Given the description of an element on the screen output the (x, y) to click on. 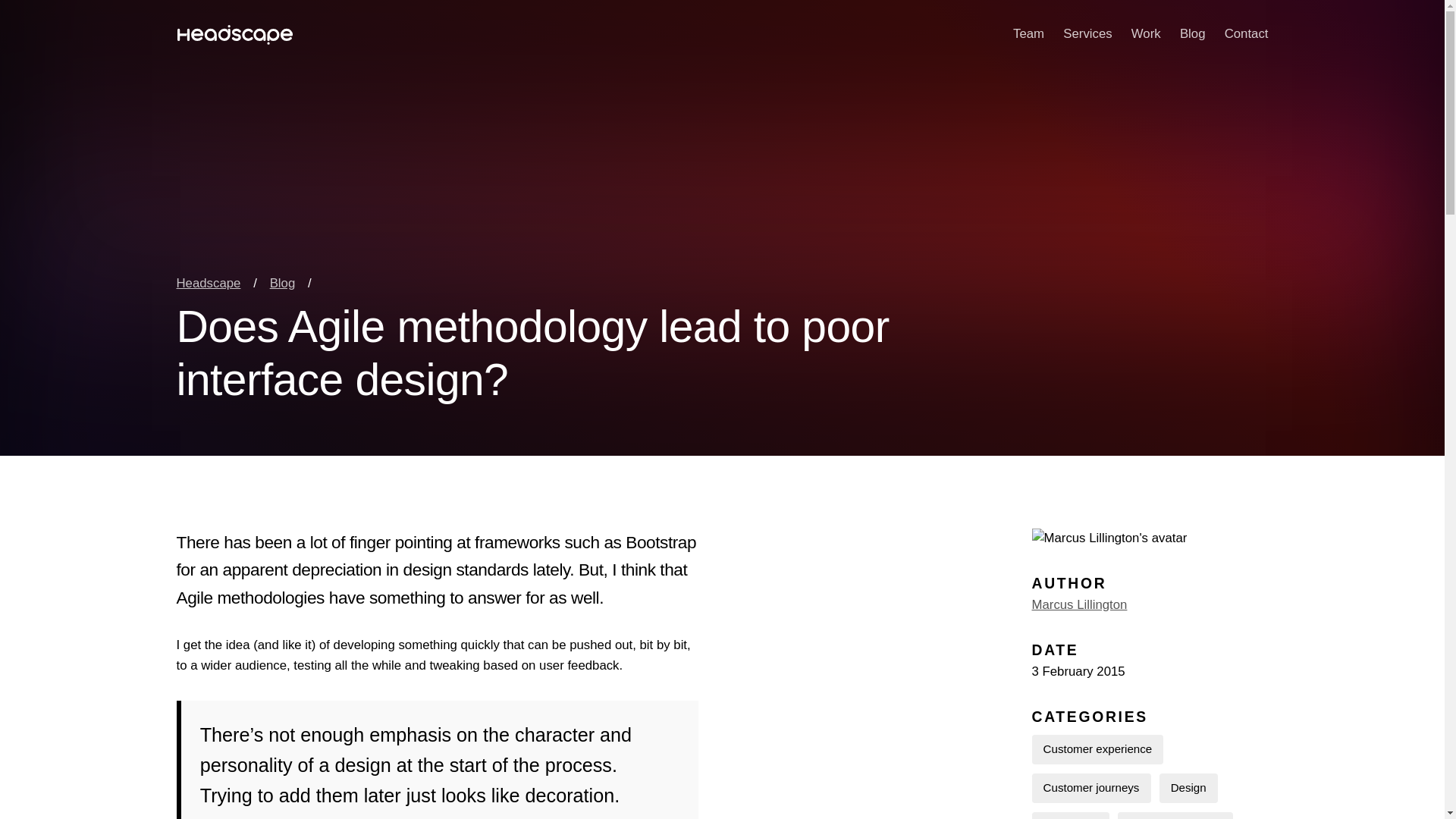
Services (1087, 34)
Work (1145, 34)
Blog (282, 283)
Blog (1192, 34)
Marcus Lillington (1078, 604)
Headscape (208, 283)
UX Design (1069, 815)
Design (1187, 788)
Team (1028, 34)
Web development (1175, 815)
Customer experience (1096, 749)
Contact (1246, 34)
Customer journeys (1090, 788)
Home (233, 34)
